Given the description of an element on the screen output the (x, y) to click on. 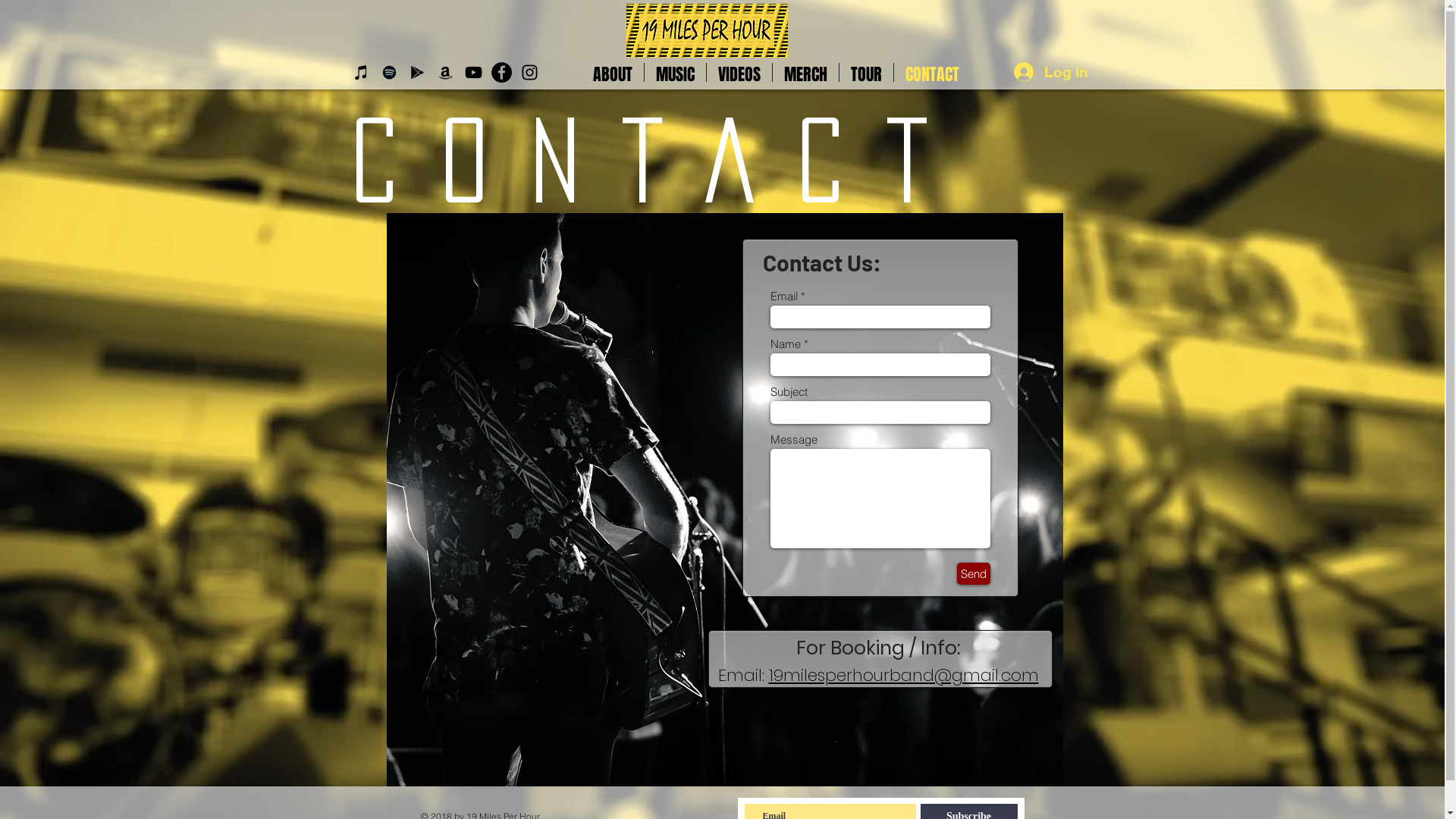
19milesperhourband@gmail.com Element type: text (903, 675)
ABOUT Element type: text (611, 71)
Send Element type: text (973, 573)
VIDEOS Element type: text (738, 71)
TOUR Element type: text (865, 71)
MERCH Element type: text (804, 71)
MUSIC Element type: text (675, 71)
CONTACT Element type: text (931, 71)
Log In Element type: text (1047, 72)
